Given the description of an element on the screen output the (x, y) to click on. 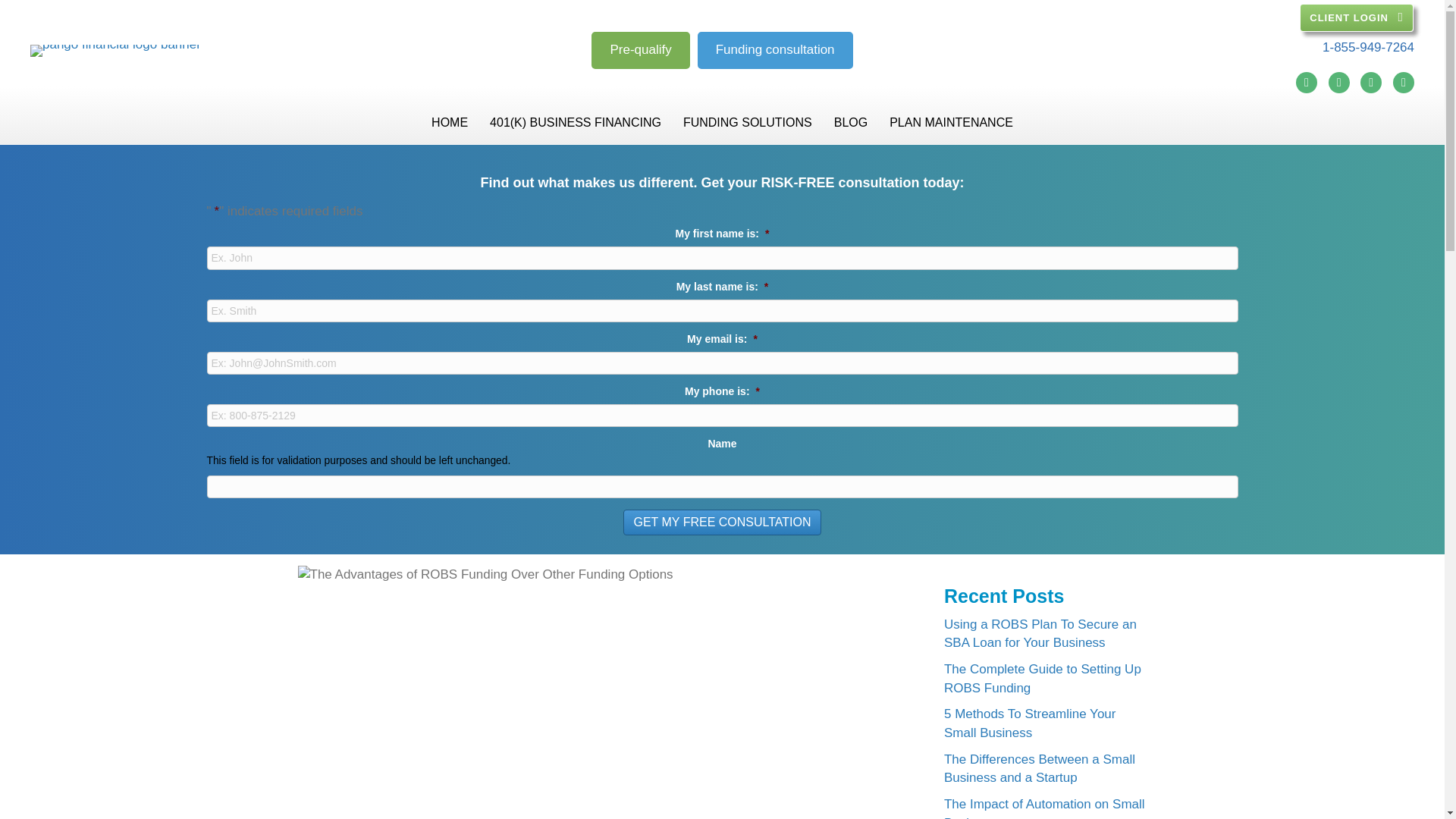
Pre-qualify (640, 49)
HOME (449, 122)
Get My Free Consultation (722, 521)
BLOG (850, 122)
CLIENT LOGIN (1356, 17)
Funding consultation (775, 49)
FUNDING SOLUTIONS (747, 122)
Pango-Logo-Color-registered (115, 50)
PLAN MAINTENANCE (951, 122)
